Given the description of an element on the screen output the (x, y) to click on. 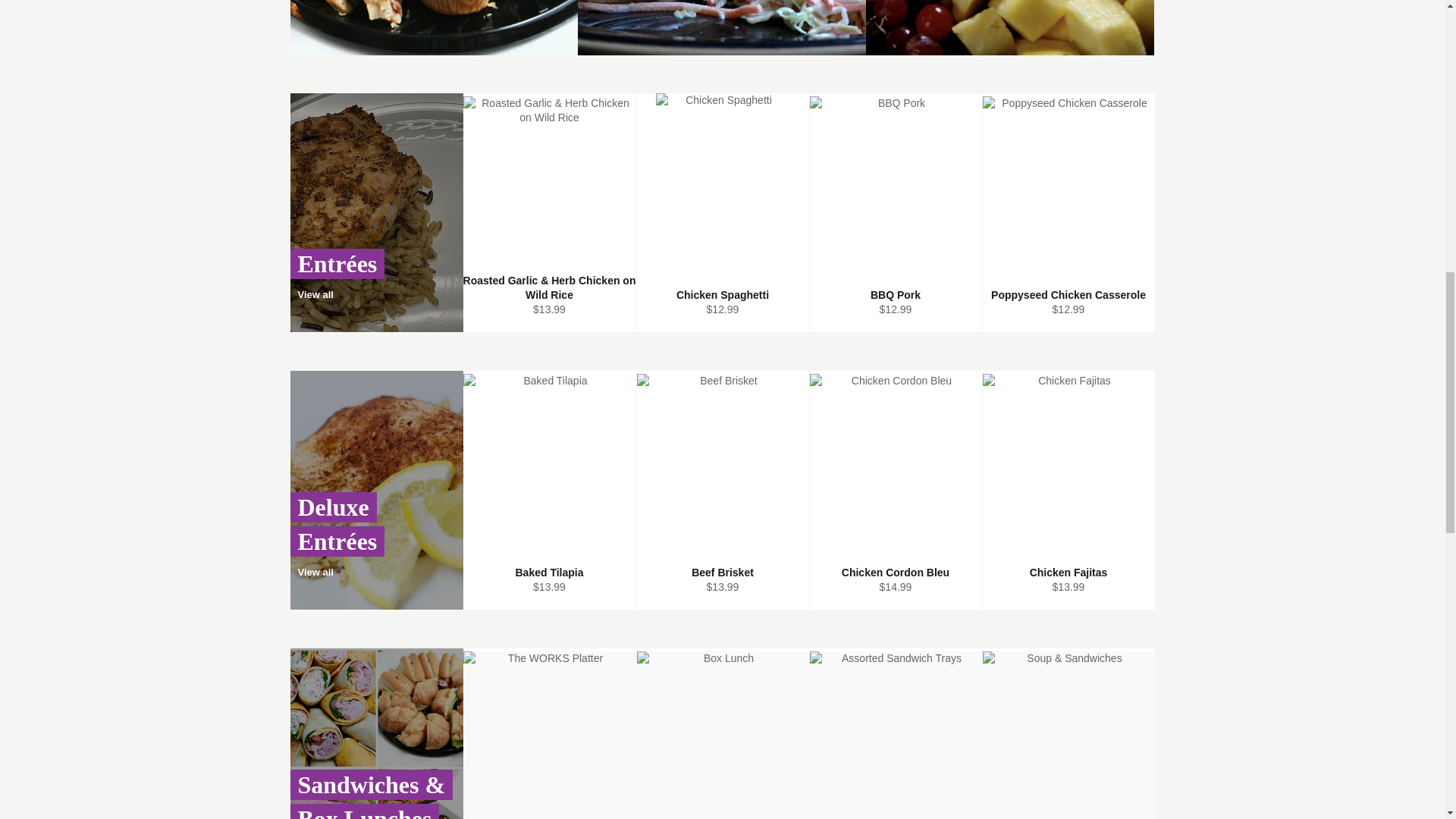
Browse our Party Trays collection (1010, 27)
Browse our Breakfast collection (433, 27)
